Given the description of an element on the screen output the (x, y) to click on. 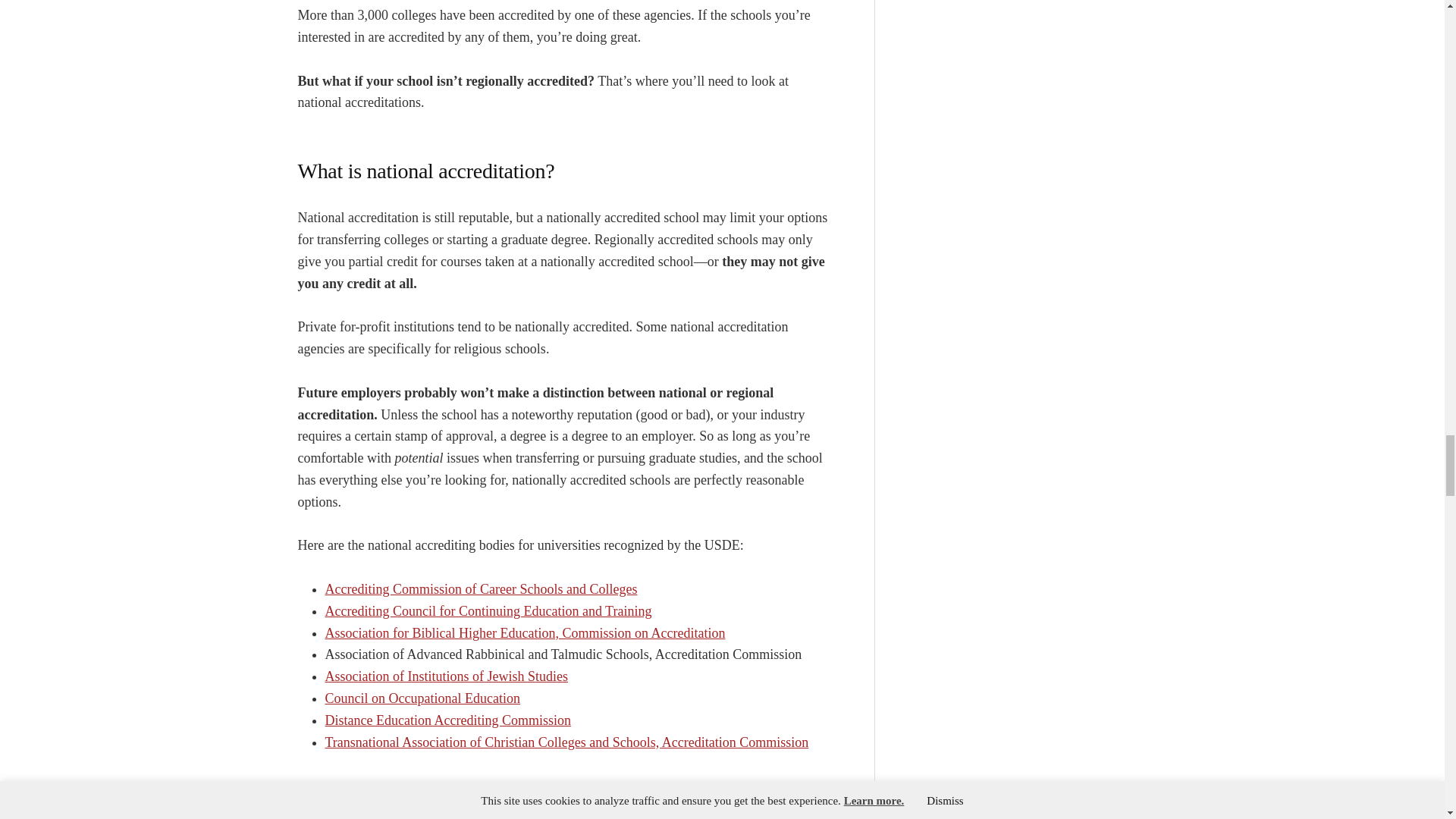
Council on Occupational Education (421, 698)
Distance Education Accrediting Commission (447, 720)
Association of Institutions of Jewish Studies (445, 676)
Accrediting Council for Continuing Education and Training (487, 611)
Accrediting Commission of Career Schools and Colleges (480, 589)
